Given the description of an element on the screen output the (x, y) to click on. 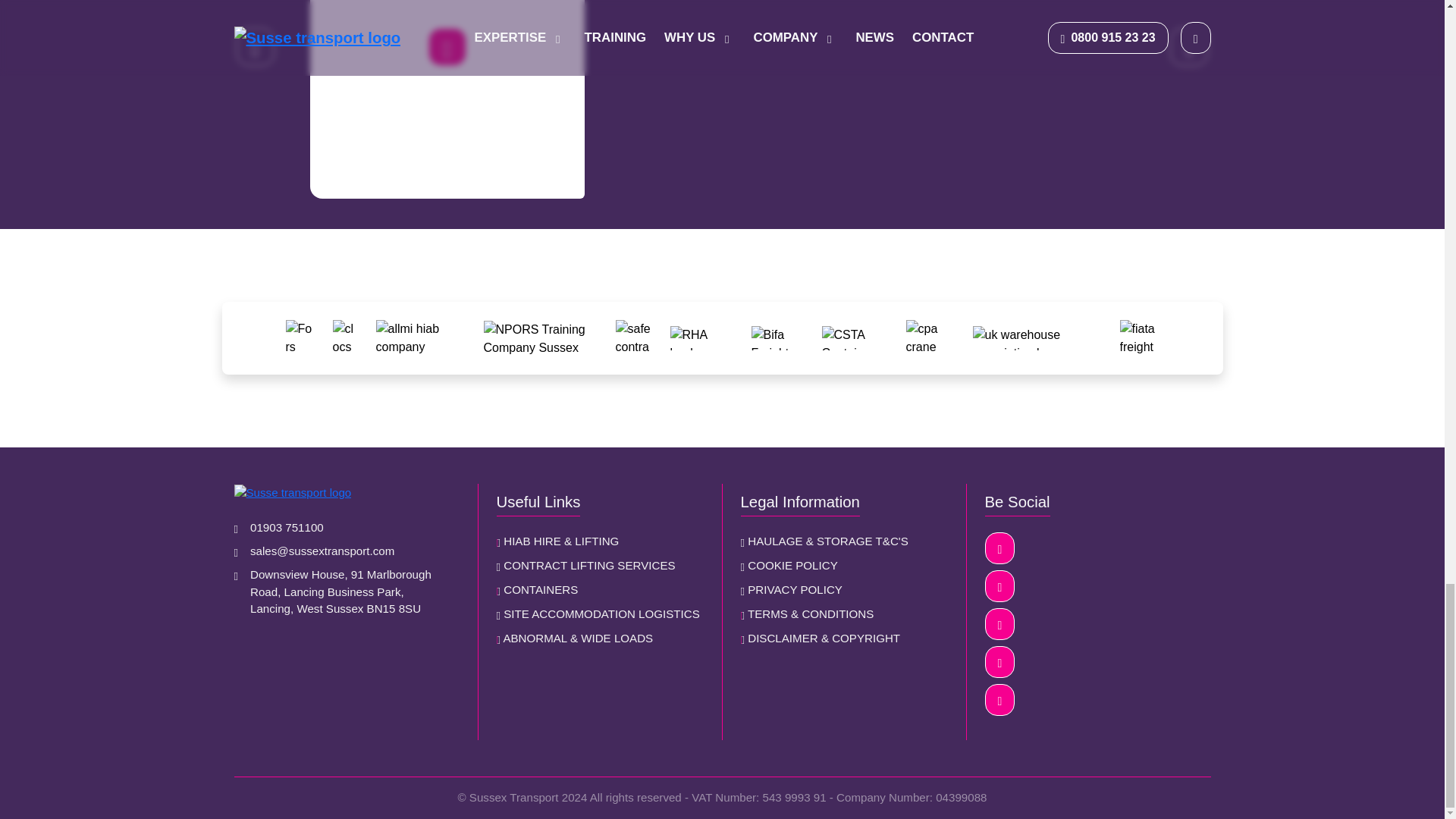
Return Home (345, 492)
Twitter-x (999, 623)
